Given the description of an element on the screen output the (x, y) to click on. 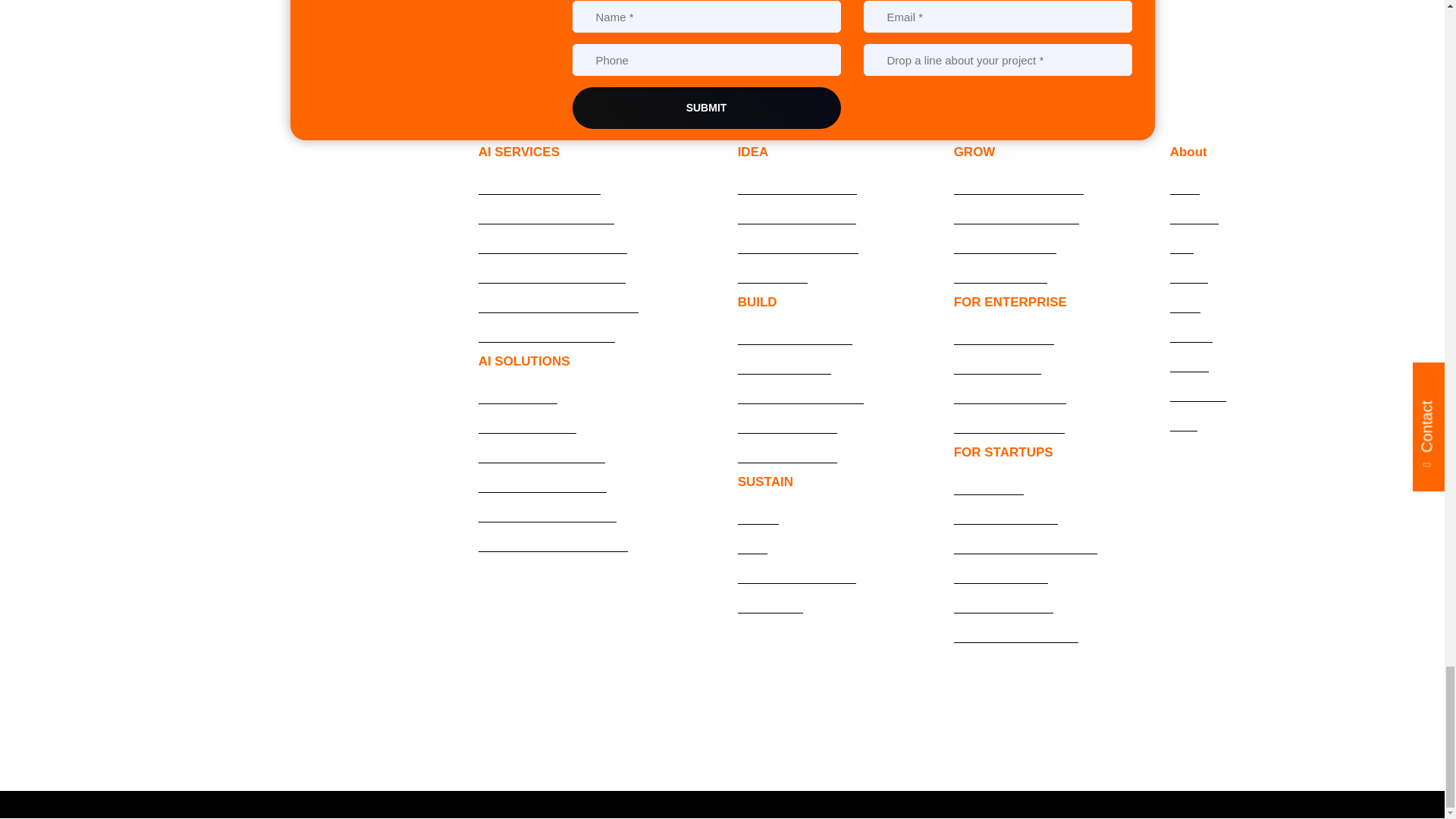
SUBMIT (706, 107)
